Given the description of an element on the screen output the (x, y) to click on. 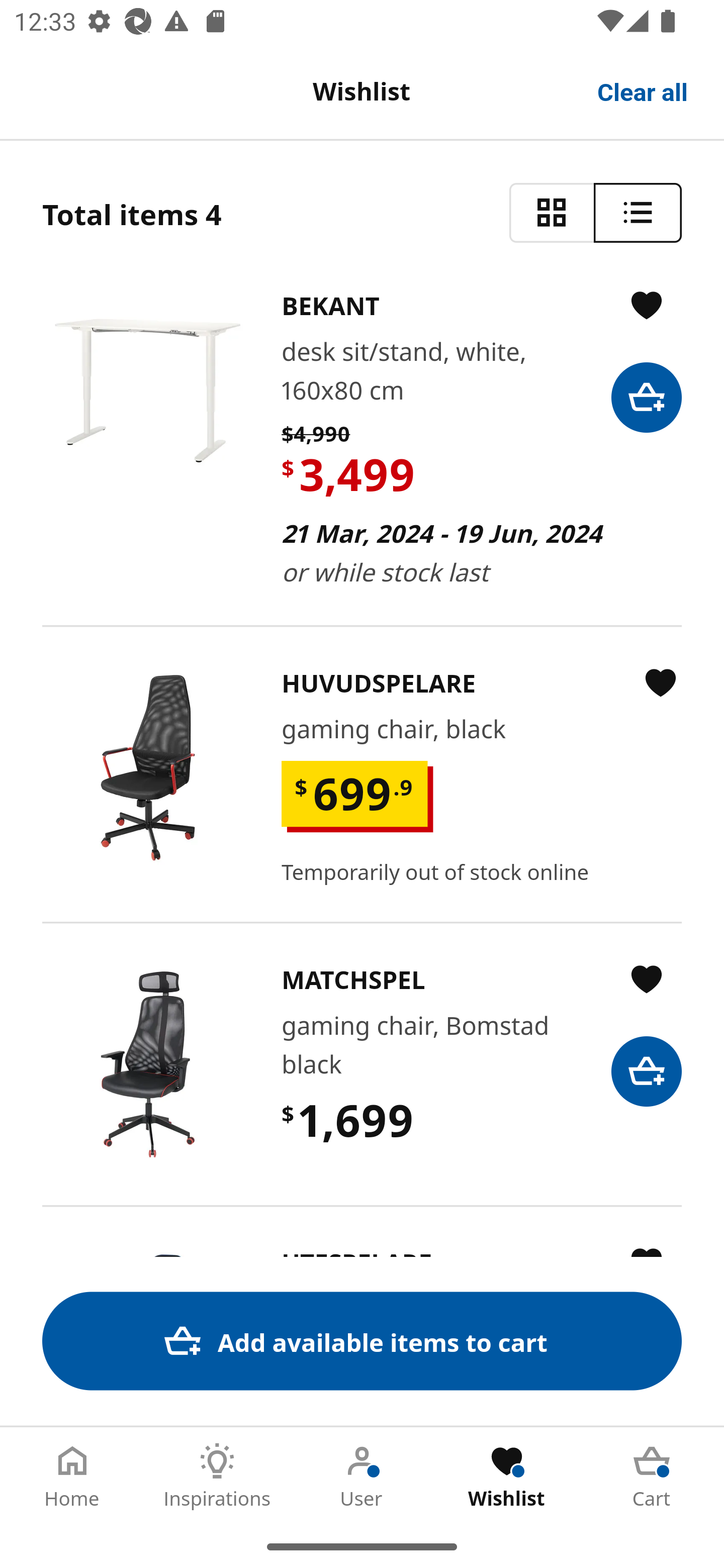
Clear all (643, 90)
Add available items to cart (361, 1341)
Home
Tab 1 of 5 (72, 1476)
Inspirations
Tab 2 of 5 (216, 1476)
User
Tab 3 of 5 (361, 1476)
Wishlist
Tab 4 of 5 (506, 1476)
Cart
Tab 5 of 5 (651, 1476)
